Given the description of an element on the screen output the (x, y) to click on. 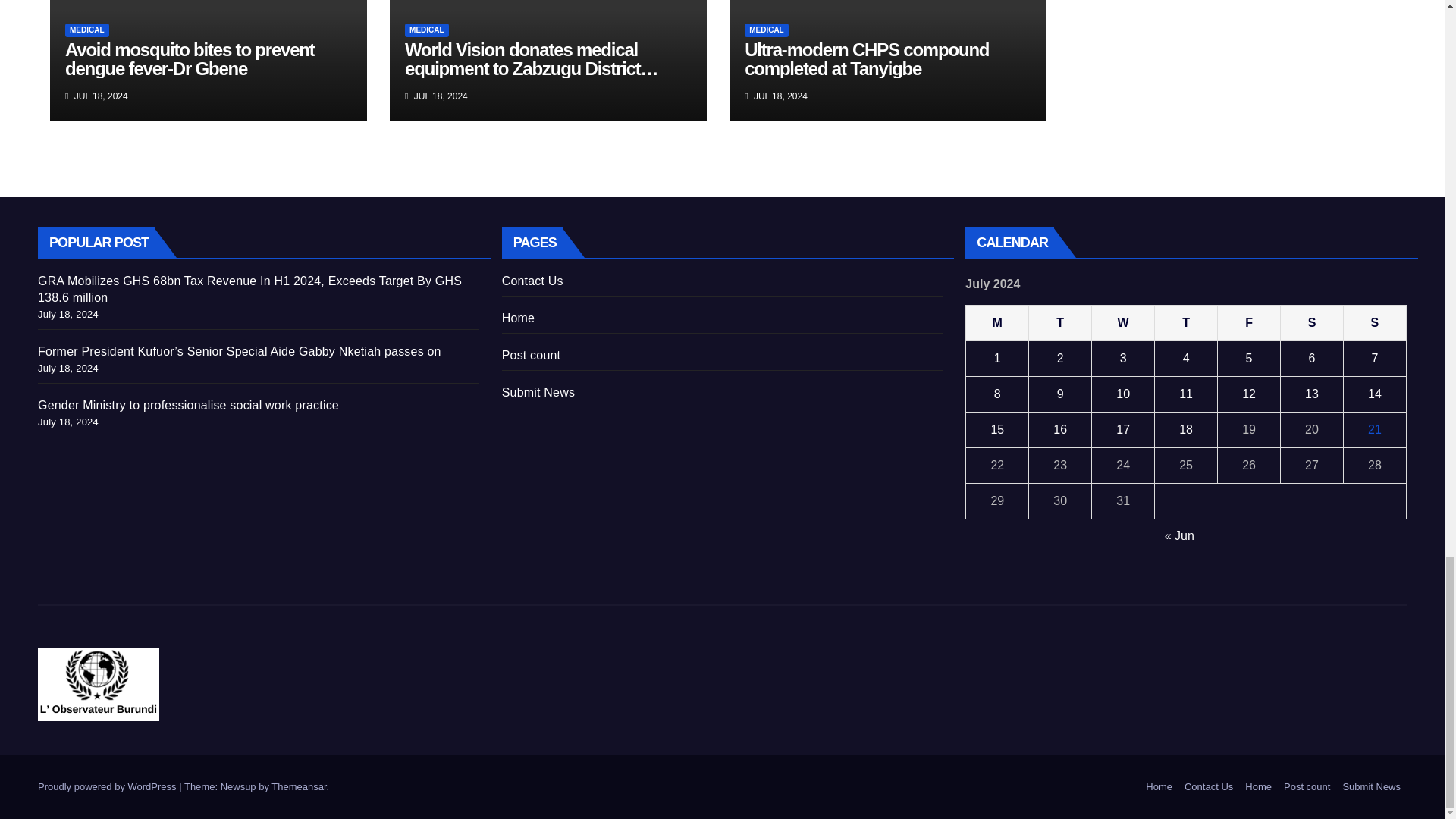
MEDICAL (426, 29)
MEDICAL (87, 29)
MEDICAL (766, 29)
Ultra-modern CHPS compound completed at Tanyigbe (866, 58)
Avoid mosquito bites to prevent dengue fever-Dr Gbene (189, 58)
